Given the description of an element on the screen output the (x, y) to click on. 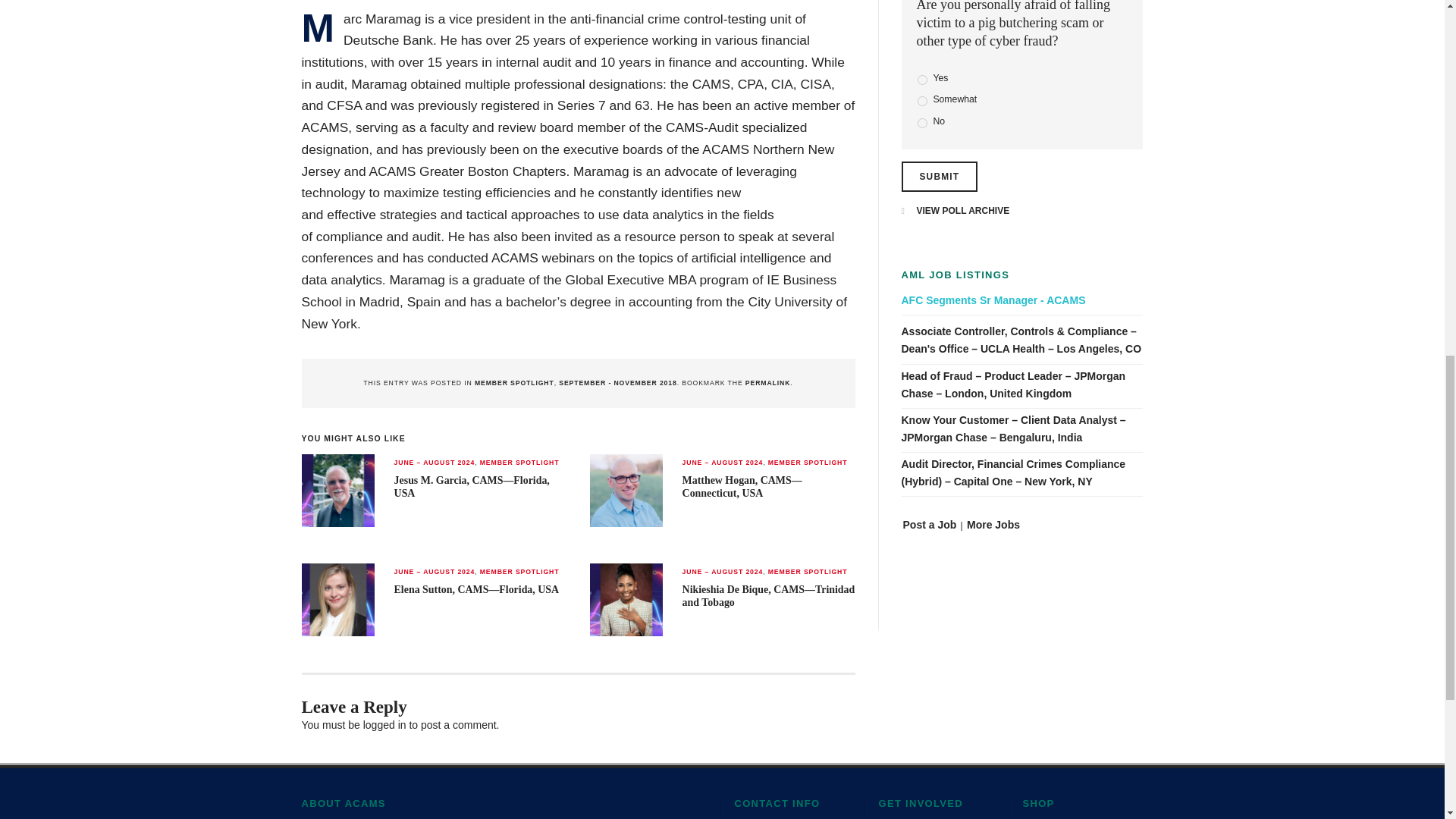
AFC Segments Sr Manager - ACAMS (1021, 300)
Submit (938, 176)
Somewhat (922, 101)
No (922, 122)
Yes (922, 80)
